Given the description of an element on the screen output the (x, y) to click on. 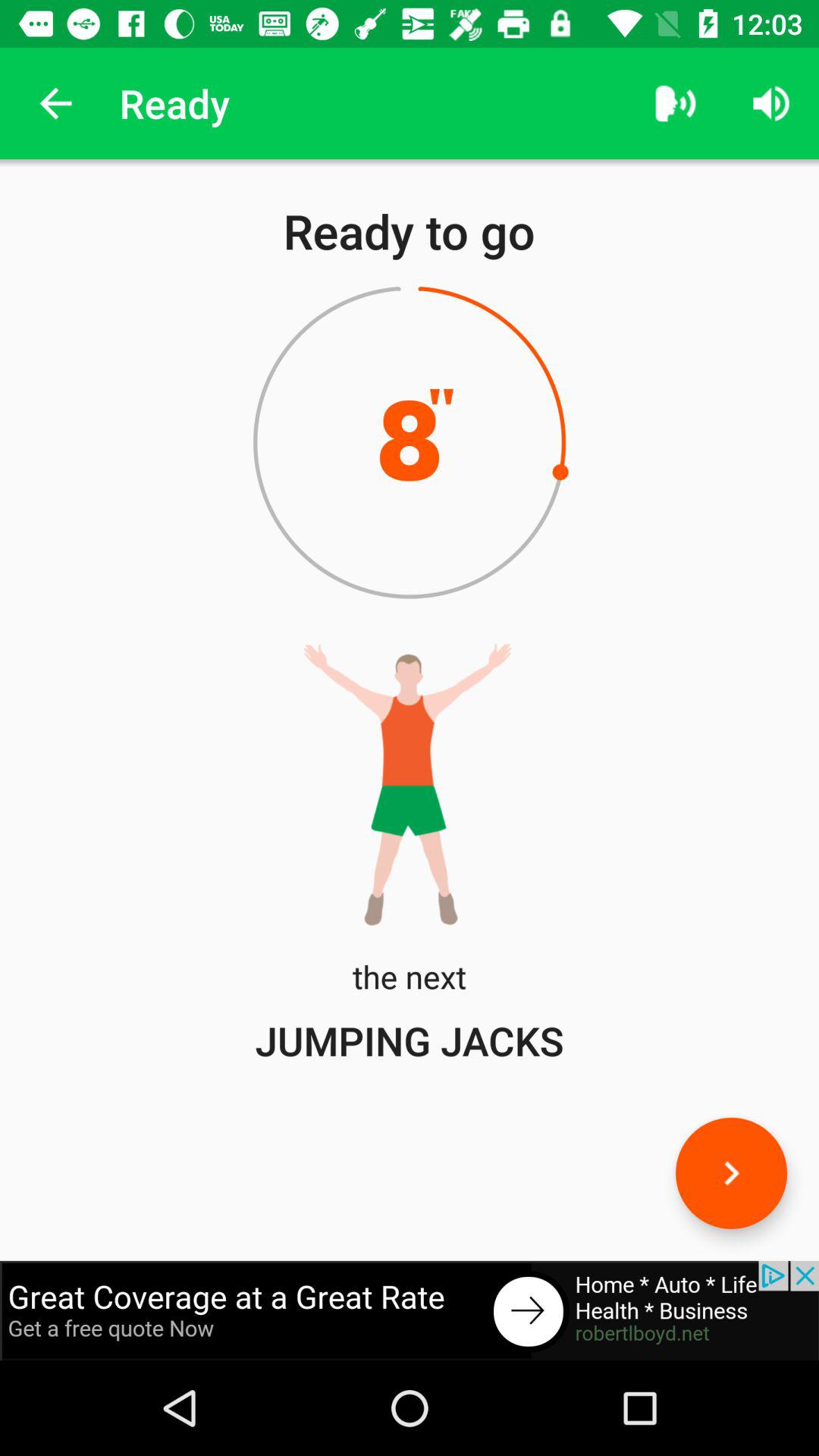
go to next option (731, 1173)
